Given the description of an element on the screen output the (x, y) to click on. 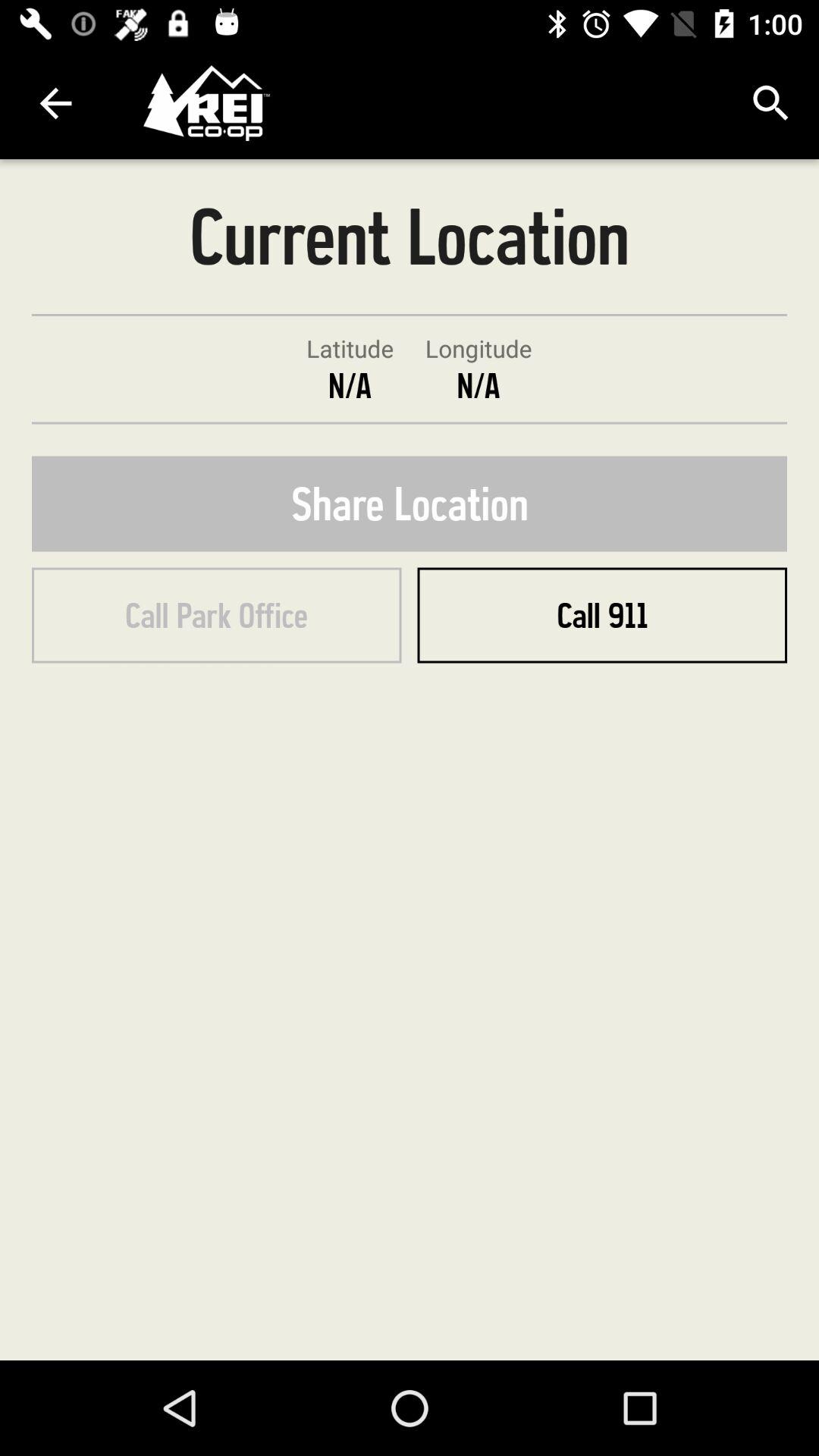
turn off the share location (409, 503)
